Given the description of an element on the screen output the (x, y) to click on. 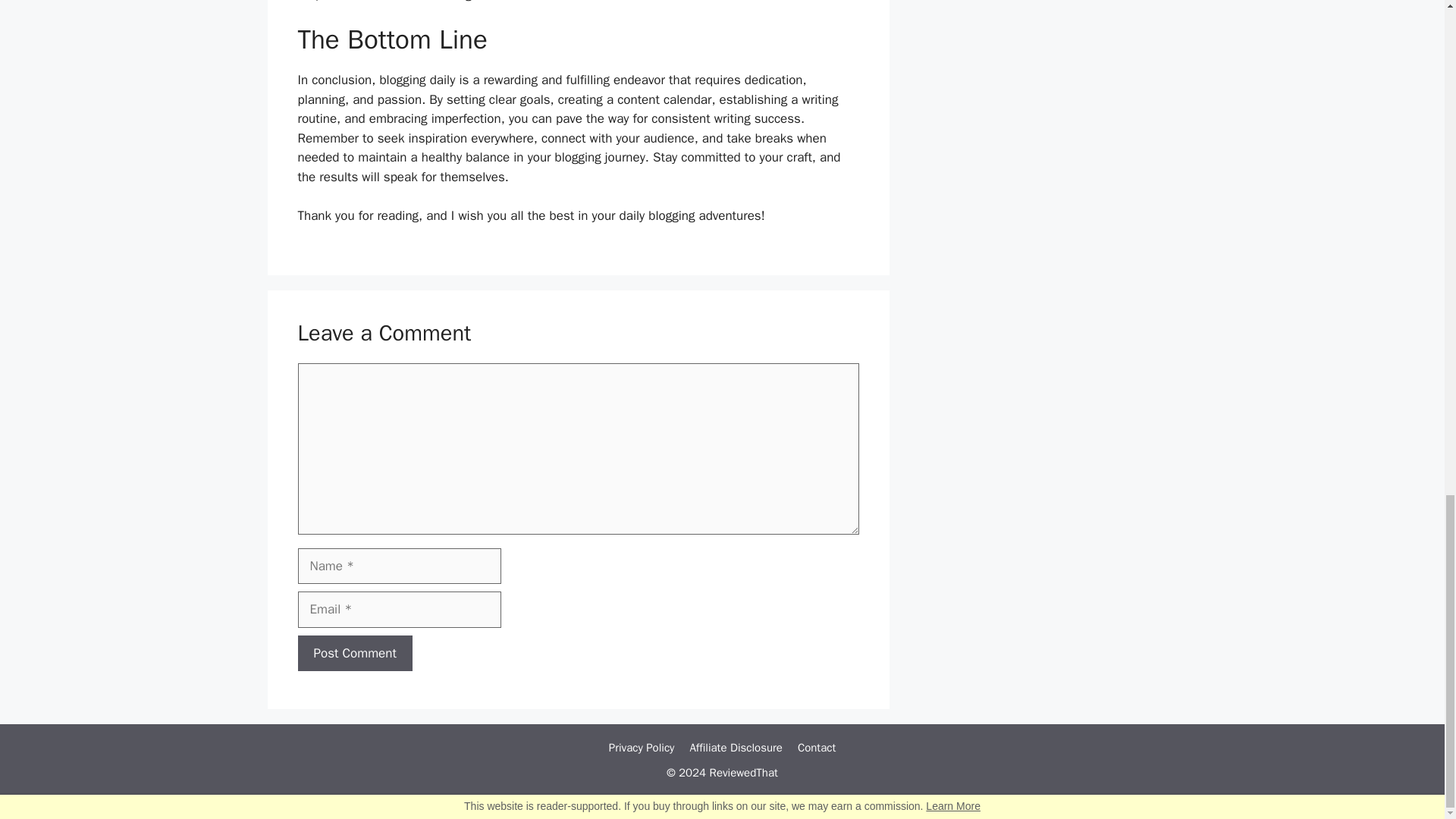
Post Comment (354, 653)
ReviewedThat (743, 772)
Contact (816, 747)
Post Comment (354, 653)
Privacy Policy (641, 747)
Affiliate Disclosure (735, 747)
